Given the description of an element on the screen output the (x, y) to click on. 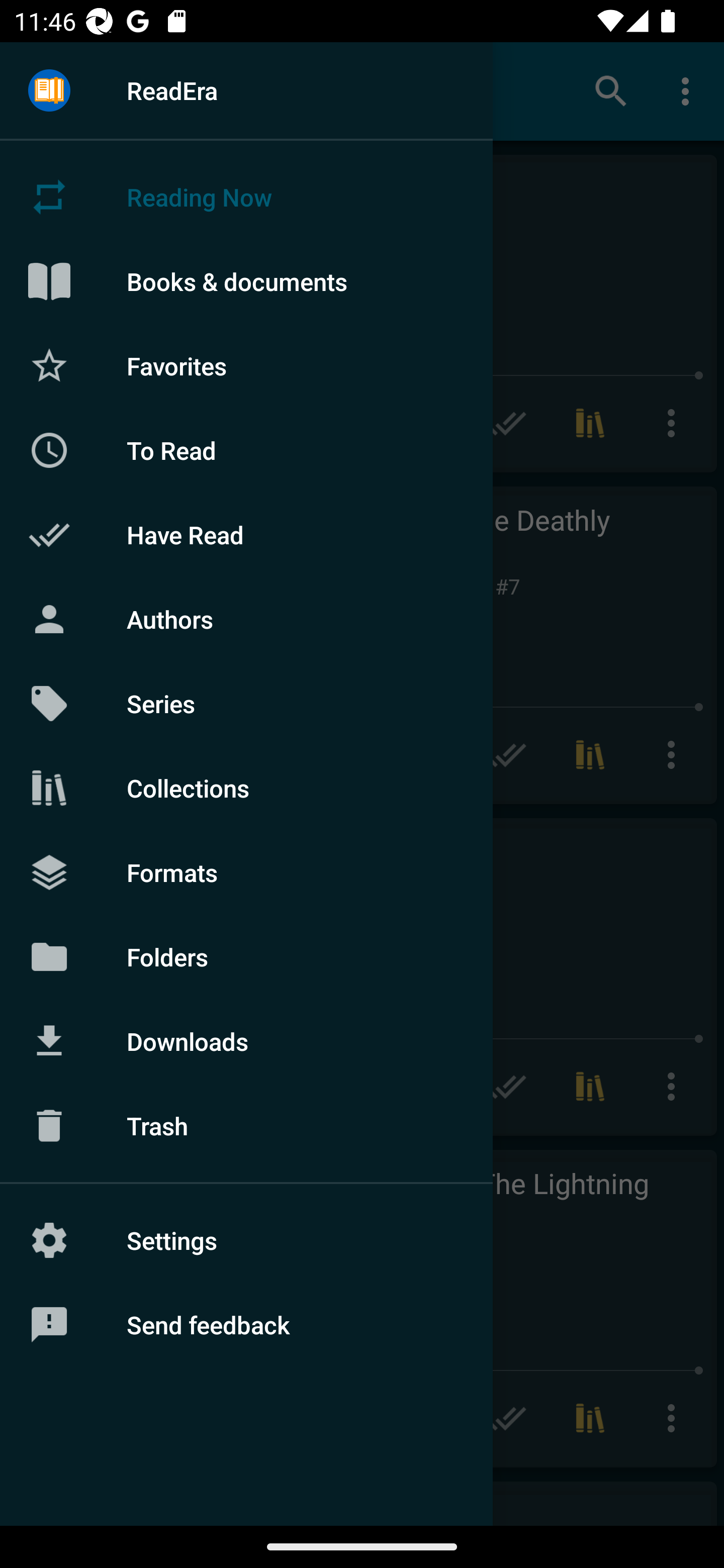
Menu (49, 91)
ReadEra (246, 89)
Search books & documents (611, 90)
More options (688, 90)
Reading Now (246, 197)
Books & documents (246, 281)
Favorites (246, 365)
To Read (246, 449)
Have Read (246, 534)
Authors (246, 619)
Series (246, 703)
Collections (246, 787)
Formats (246, 871)
Folders (246, 956)
Downloads (246, 1040)
Trash (246, 1125)
Settings (246, 1239)
Send feedback (246, 1324)
